Given the description of an element on the screen output the (x, y) to click on. 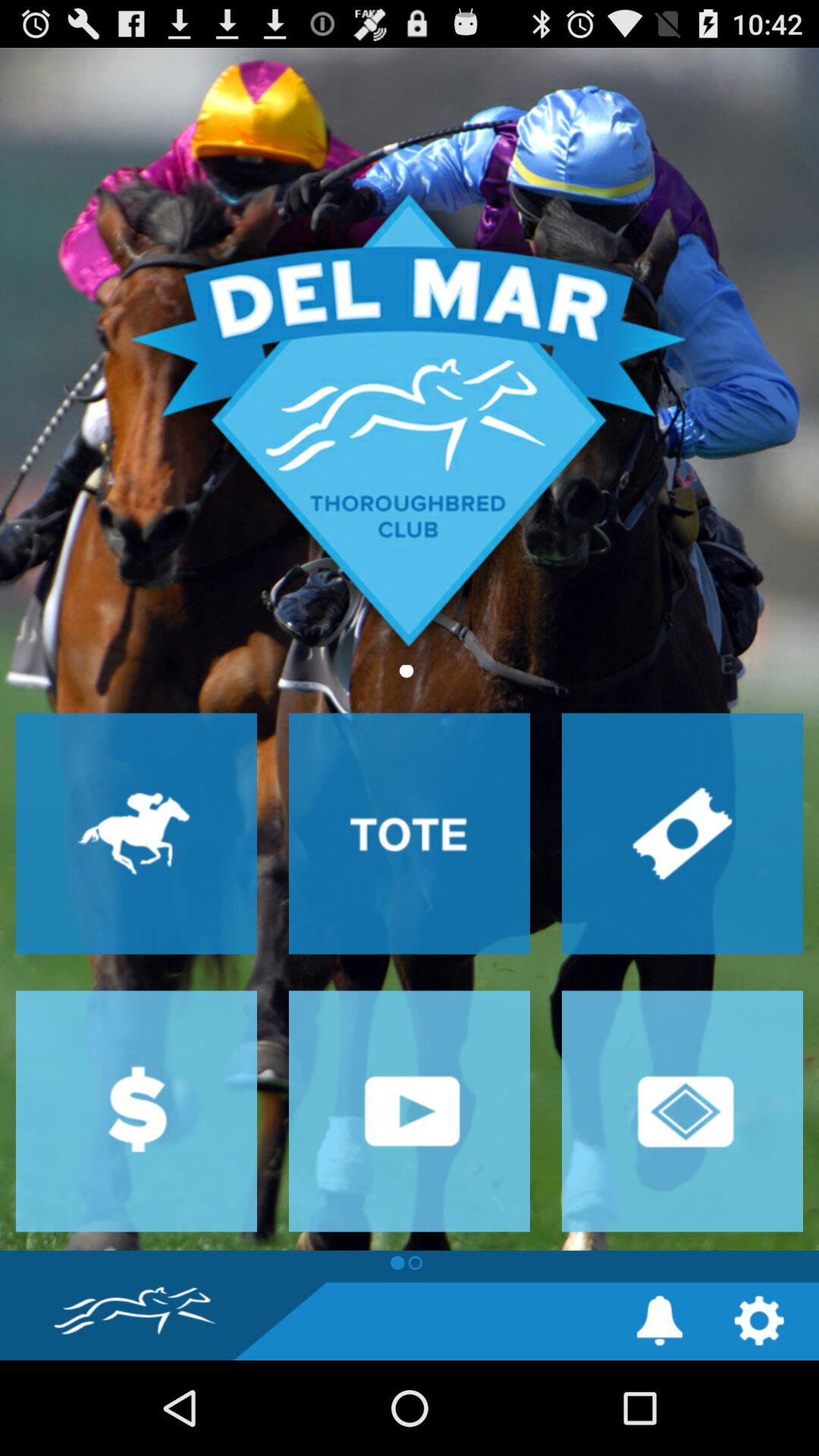
home page (409, 648)
